Given the description of an element on the screen output the (x, y) to click on. 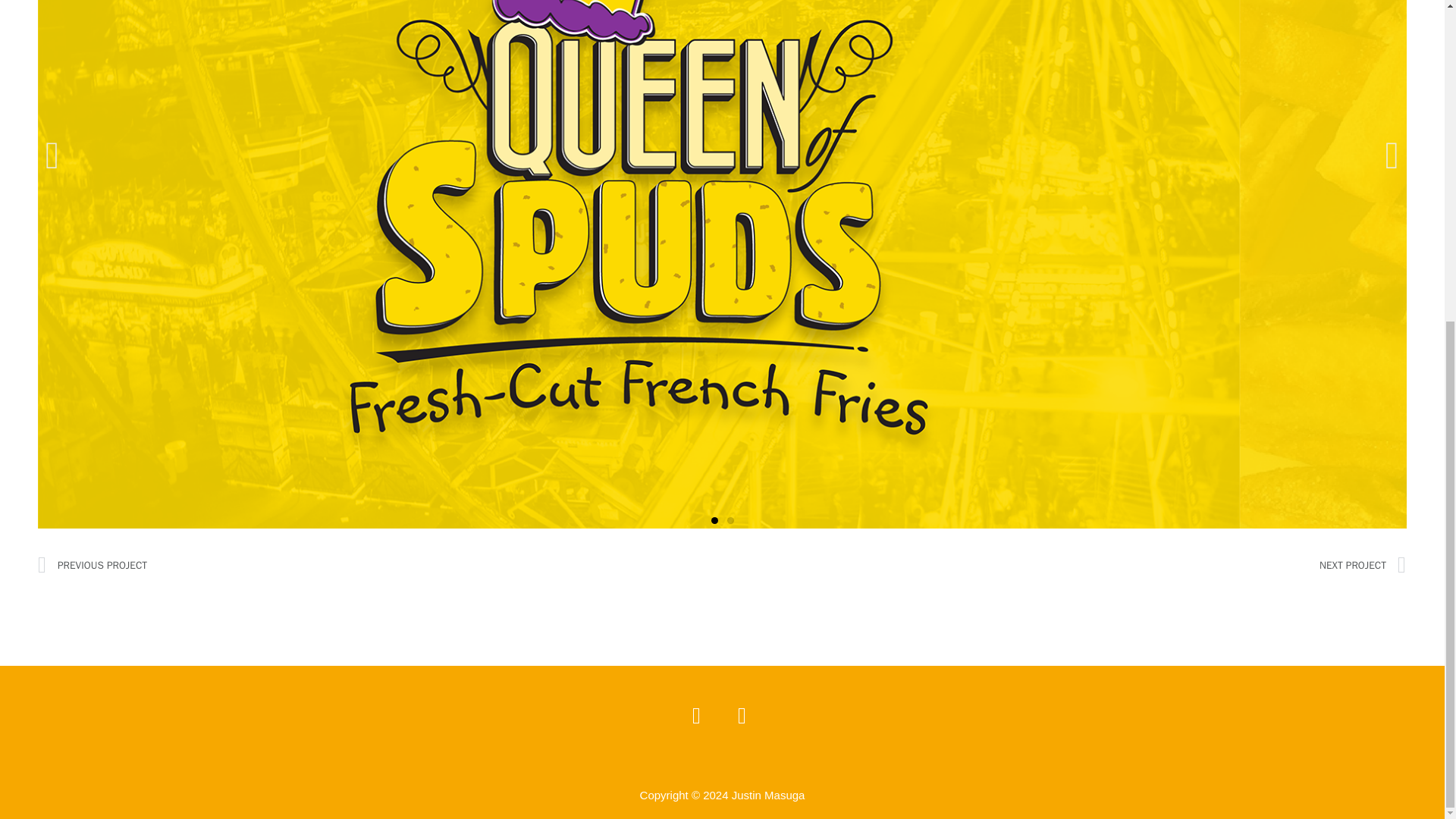
NEXT PROJECT (1064, 565)
PREVIOUS PROJECT (379, 565)
